Given the description of an element on the screen output the (x, y) to click on. 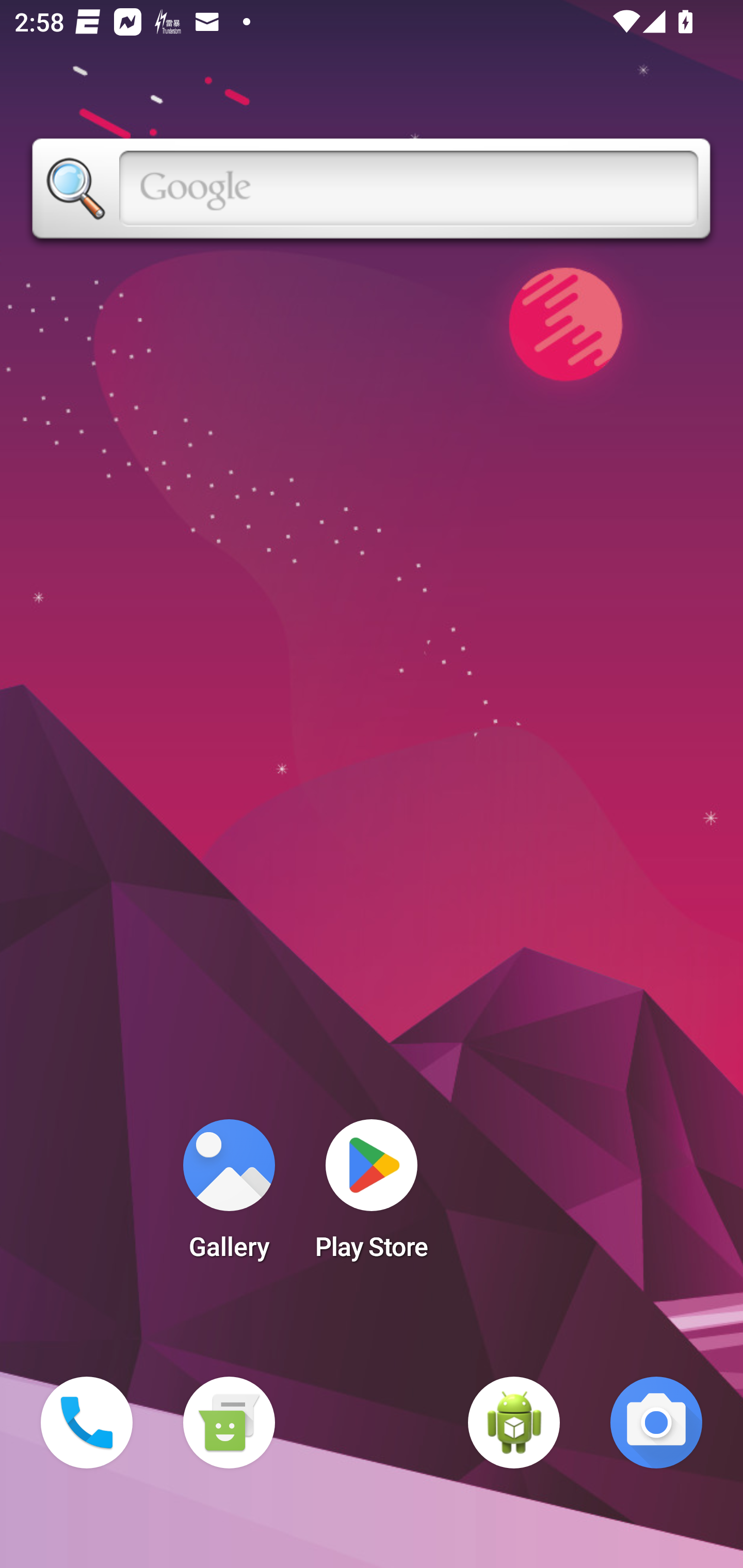
Gallery (228, 1195)
Play Store (371, 1195)
Phone (86, 1422)
Messaging (228, 1422)
WebView Browser Tester (513, 1422)
Camera (656, 1422)
